Given the description of an element on the screen output the (x, y) to click on. 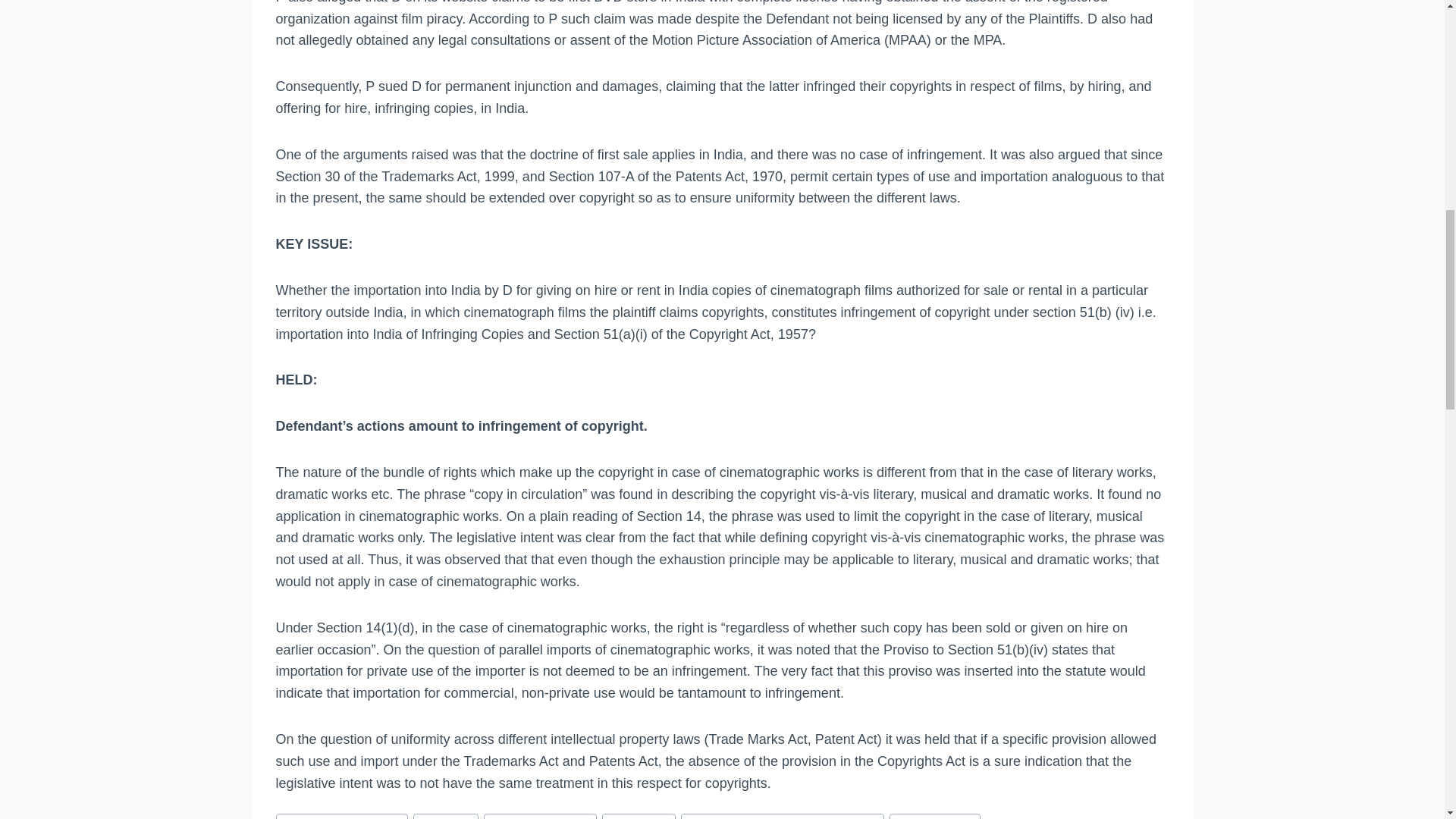
exhaustion (638, 816)
Motion Picture Association of America (782, 816)
Copyright Act 1957 (539, 816)
copyright (446, 816)
cinematographic works (341, 816)
Parallel Import (934, 816)
